Given the description of an element on the screen output the (x, y) to click on. 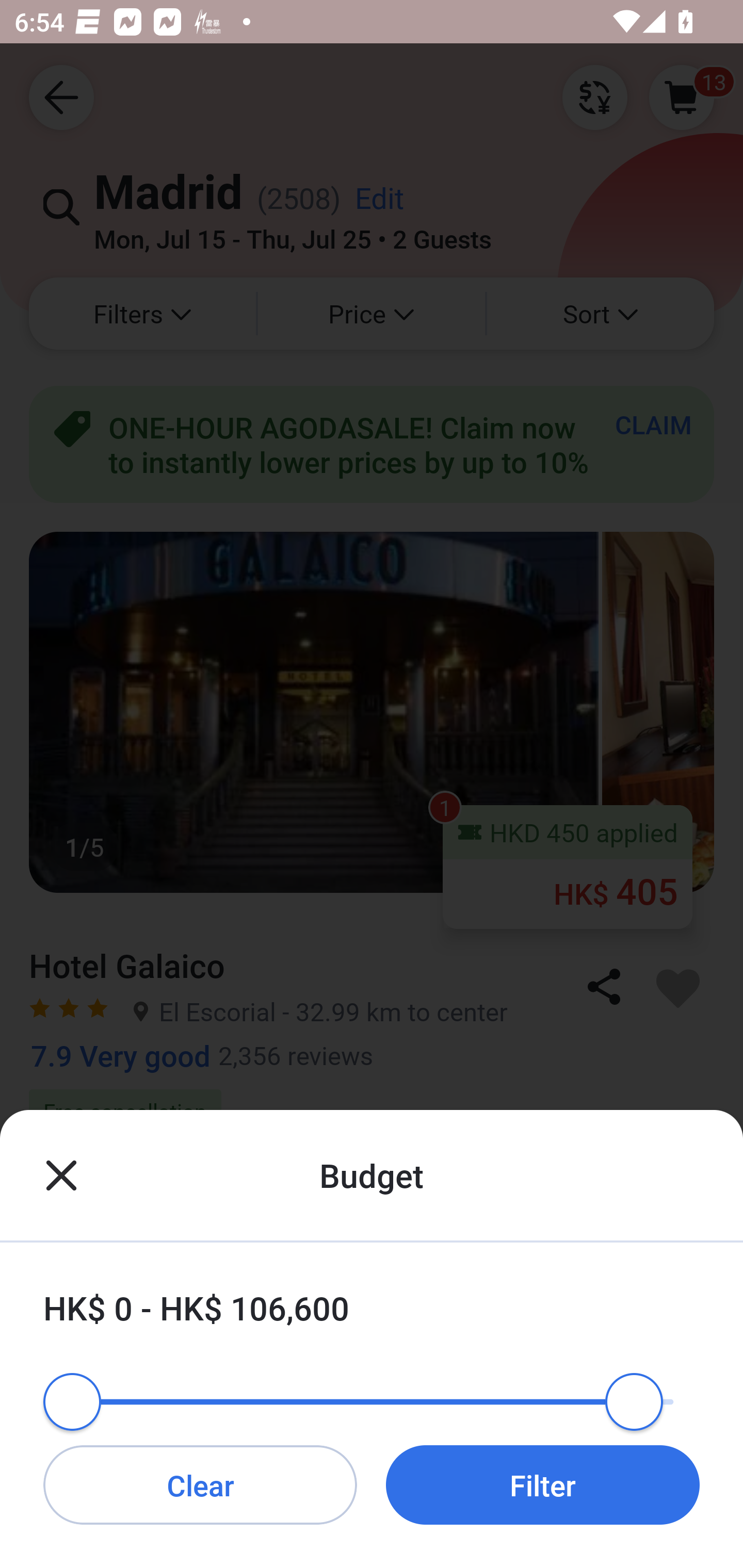
Clear (200, 1484)
Filter (542, 1484)
